Given the description of an element on the screen output the (x, y) to click on. 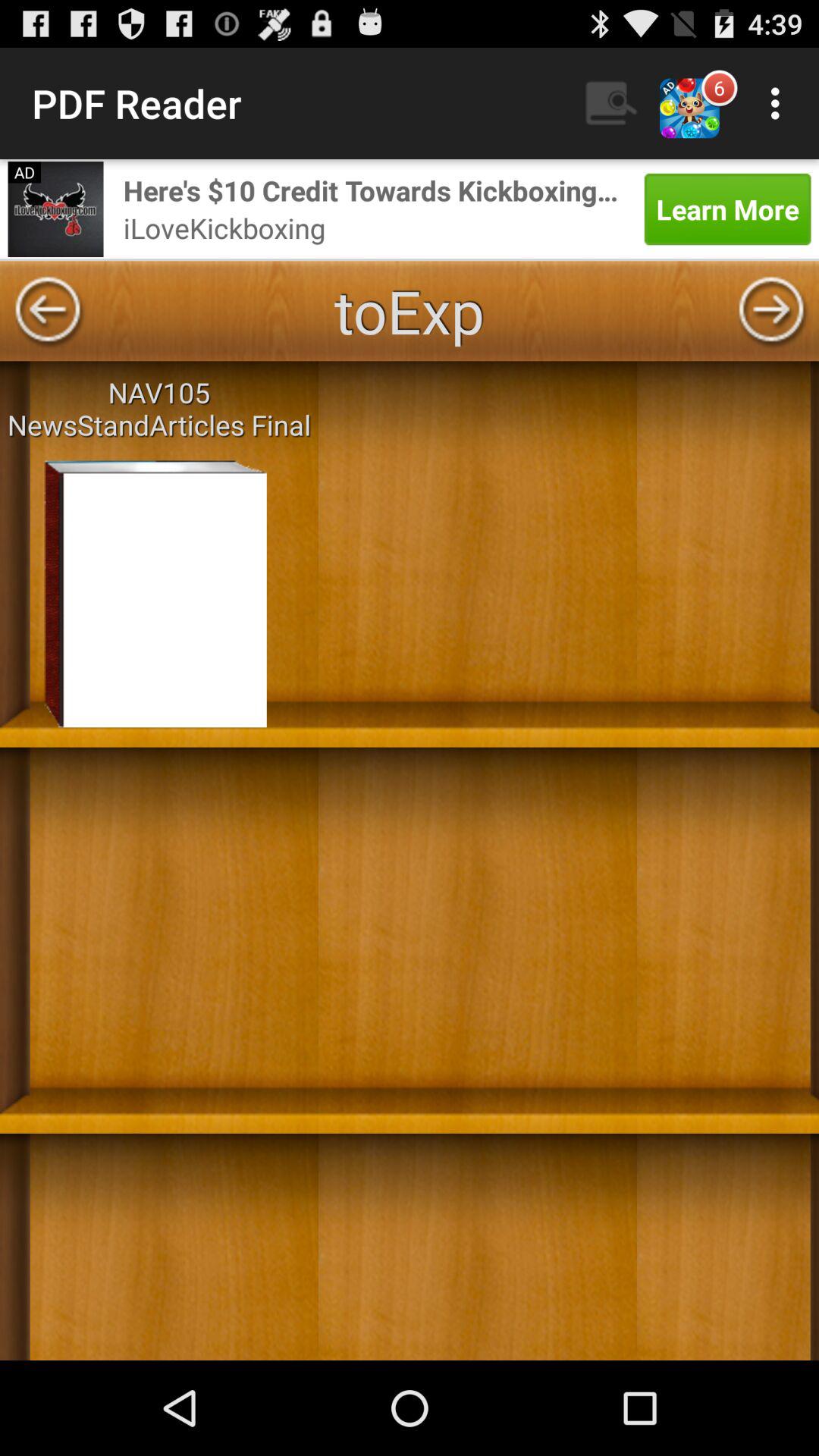
sea booking (55, 209)
